Given the description of an element on the screen output the (x, y) to click on. 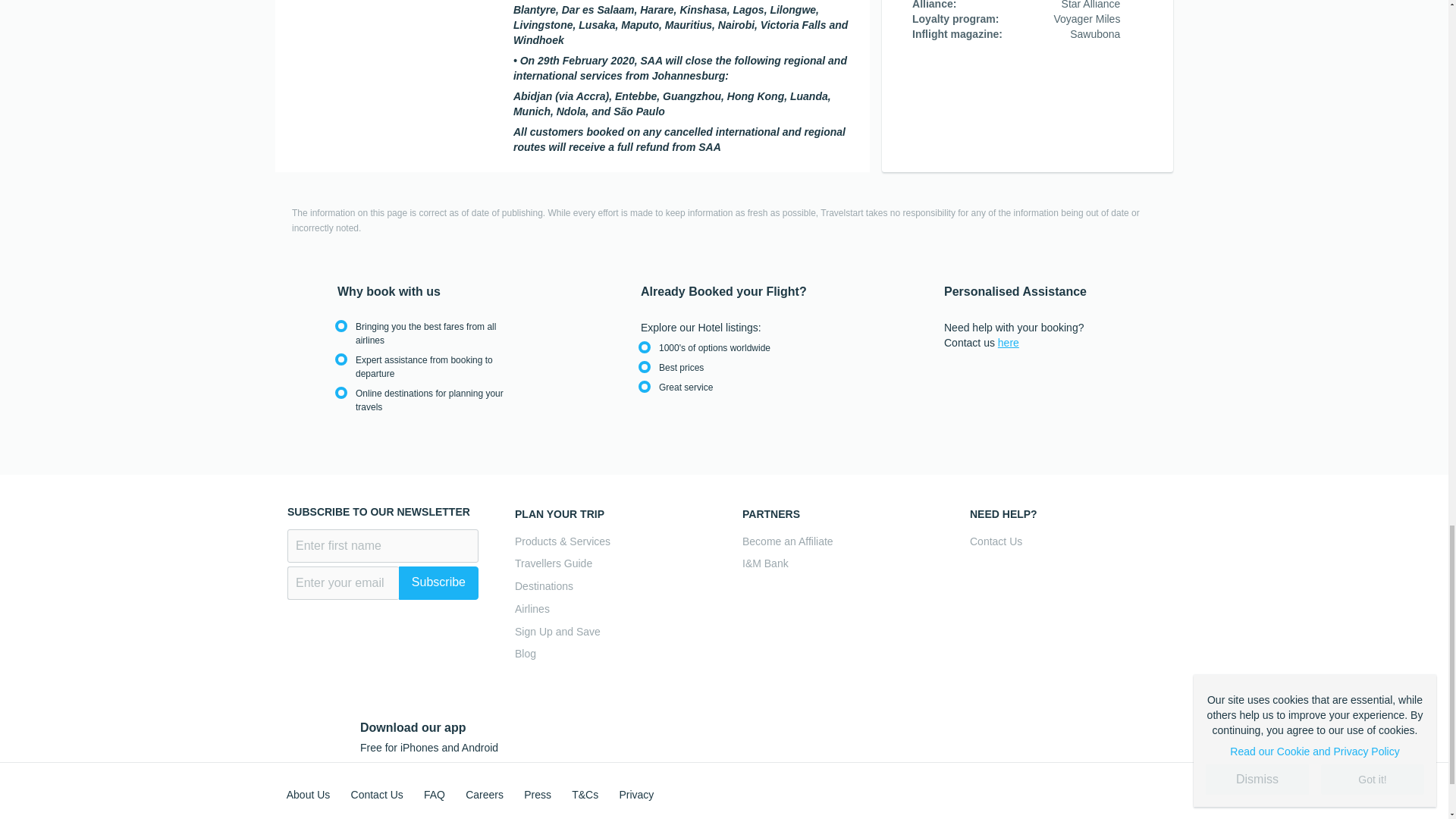
Careers (484, 795)
Destinations (610, 586)
Contact Us (1064, 541)
Facebook (1029, 789)
Airlines (610, 609)
Contact Us (376, 795)
here (1008, 342)
About Us (308, 795)
Privacy (635, 795)
Twitter (1062, 789)
Blog (610, 653)
Travellers Guide (610, 563)
Subscribe (438, 582)
Sign Up and Save (610, 631)
Become an Affiliate (837, 541)
